Given the description of an element on the screen output the (x, y) to click on. 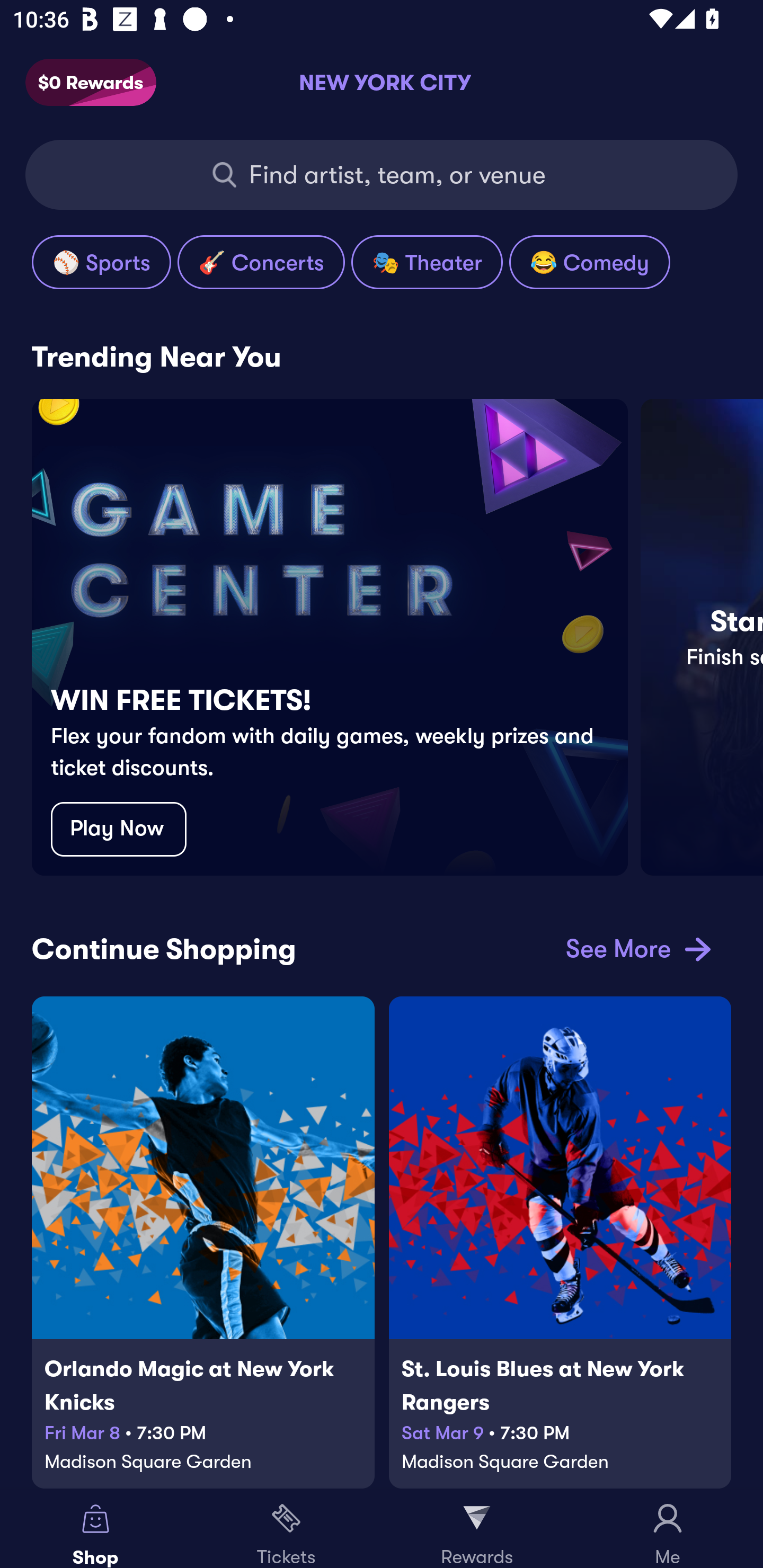
$0 Rewards (90, 82)
NEW YORK CITY (381, 81)
Find artist, team, or venue (381, 174)
⚾ Sports (101, 261)
🎸 Concerts (261, 261)
🎭 Theater (426, 261)
😂 Comedy (589, 261)
See More (635, 948)
Shop (95, 1529)
Tickets (285, 1529)
Rewards (476, 1529)
Me (667, 1529)
